Given the description of an element on the screen output the (x, y) to click on. 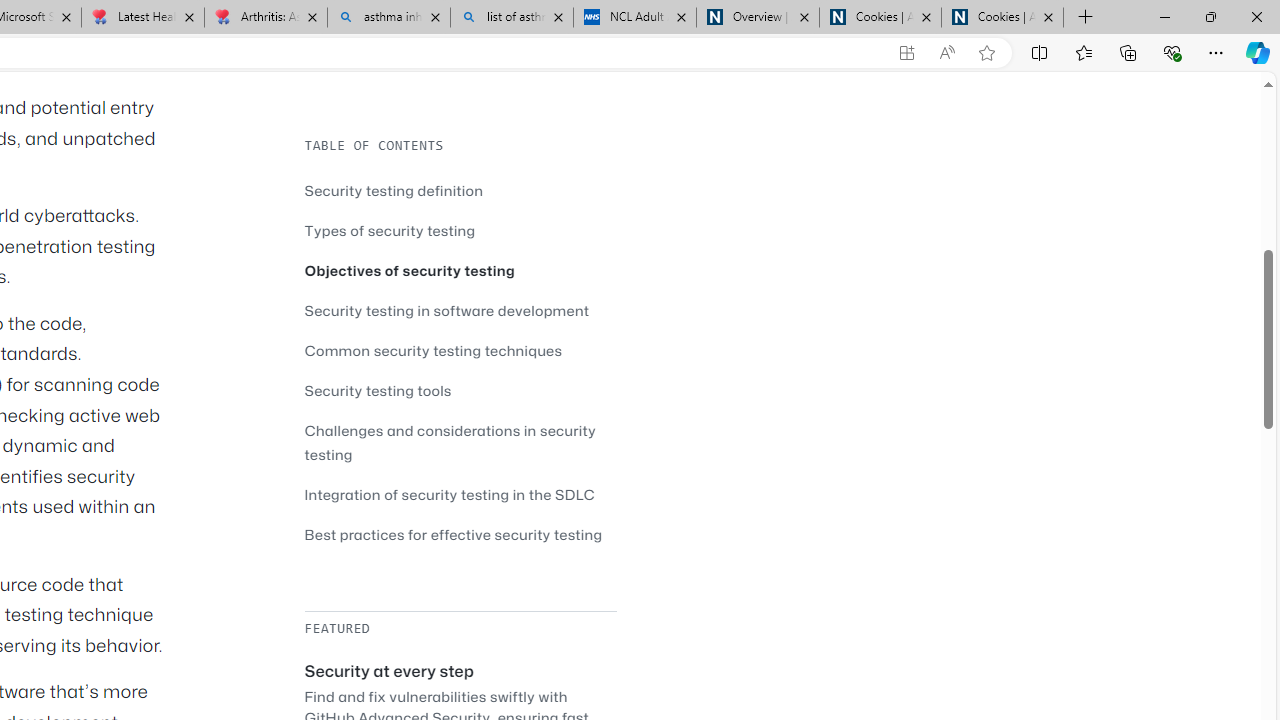
Common security testing techniques (460, 349)
Security testing definition (460, 190)
Security testing tools (377, 390)
Security testing in software development (447, 309)
Objectives of security testing (460, 269)
Cookies | About | NICE (1002, 17)
